Given the description of an element on the screen output the (x, y) to click on. 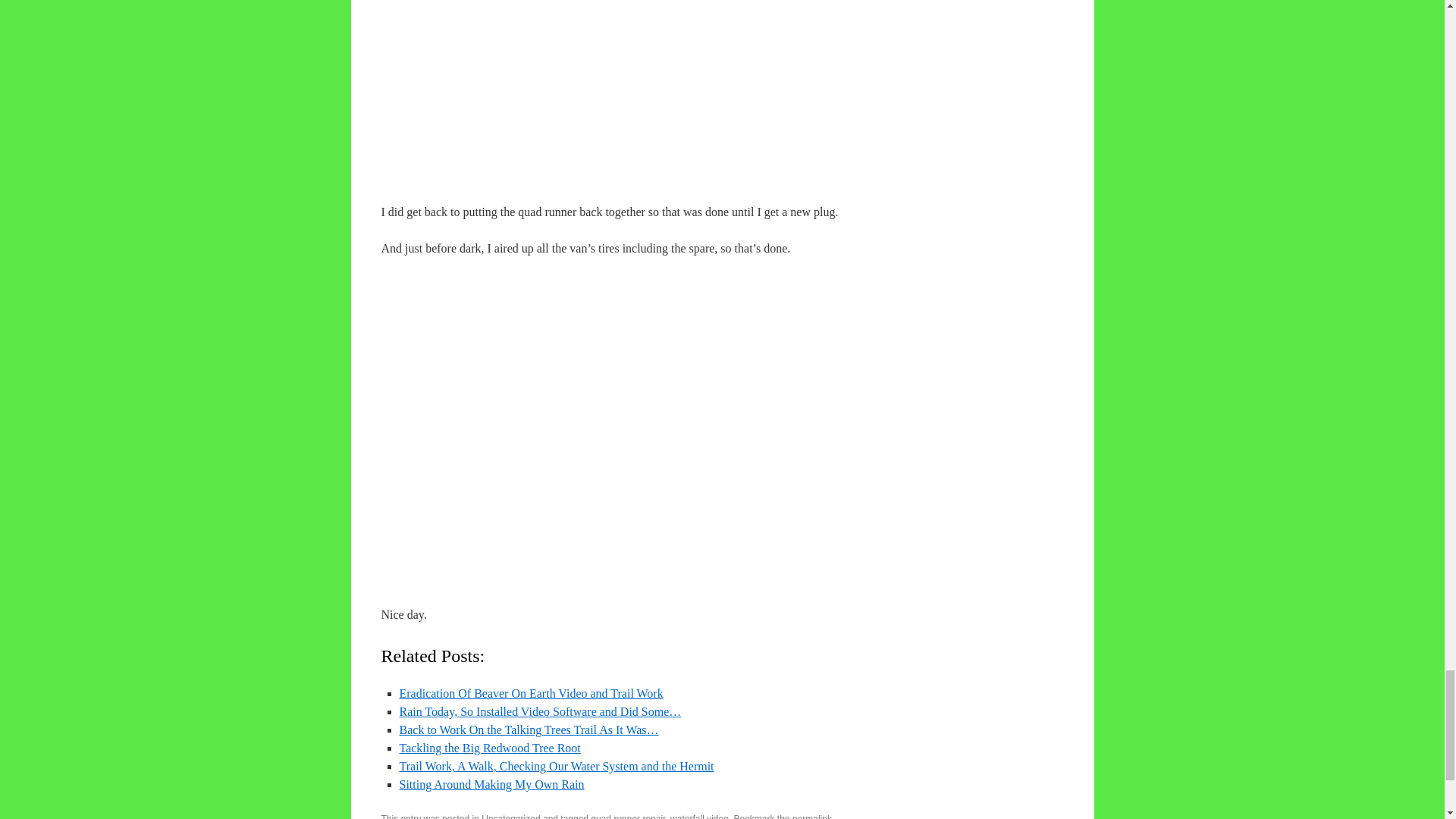
waterfall video (699, 816)
Trail Work, A Walk, Checking Our Water System and the Hermit (555, 766)
Eradication Of Beaver On Earth Video and Trail Work (530, 693)
Tackling the Big Redwood Tree Root (488, 748)
Uncategorized (510, 816)
chairs (630, 71)
quad runner repair (628, 816)
permalink (811, 816)
Sitting Around Making My Own Rain (490, 784)
